Given the description of an element on the screen output the (x, y) to click on. 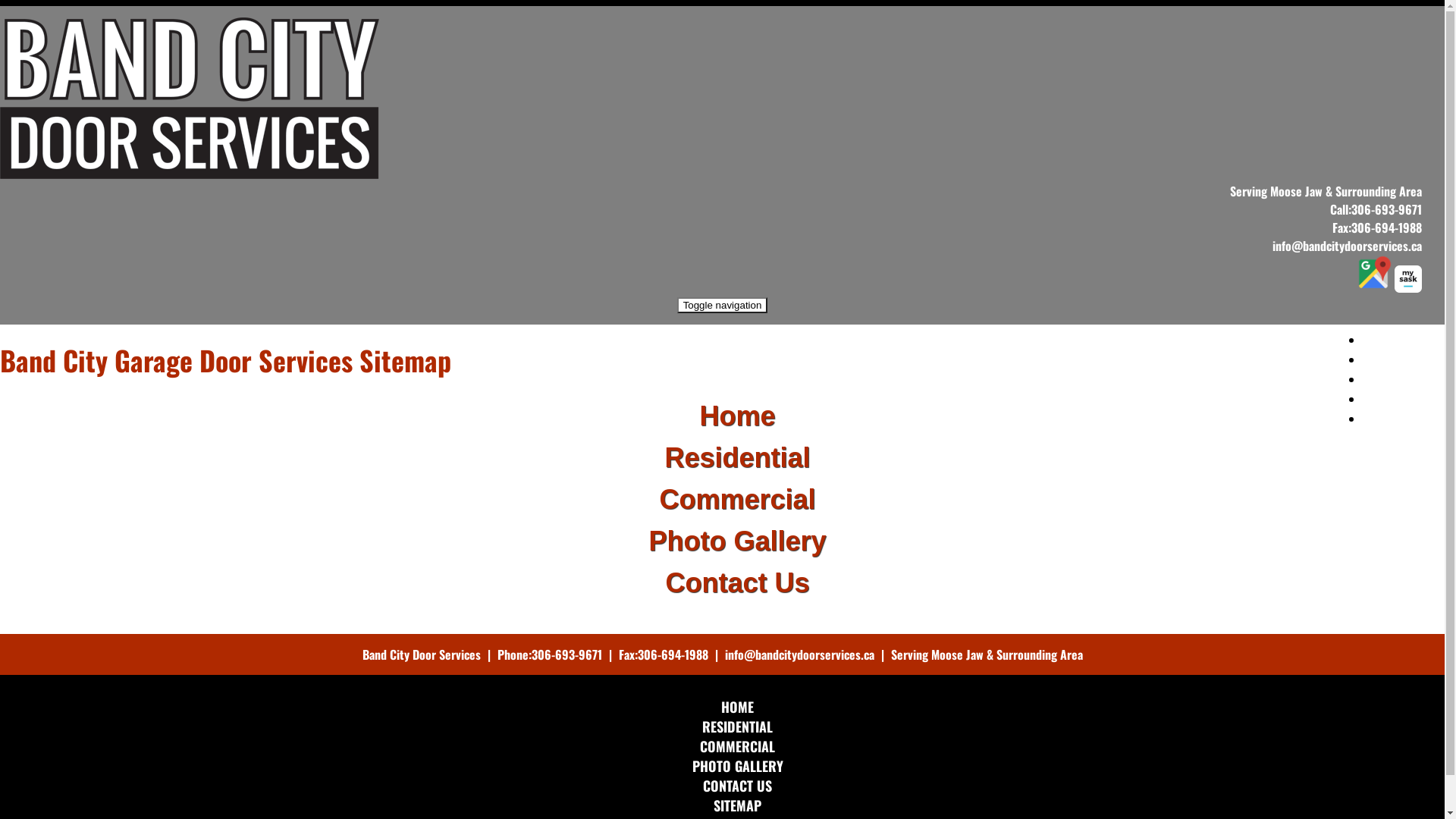
306-693-9671 Element type: text (565, 654)
CONTACT US Element type: text (1403, 416)
HOME Element type: text (737, 706)
PHOTO GALLERY Element type: text (1403, 397)
CONTACT US Element type: text (737, 785)
Photo Gallery Element type: text (736, 540)
Contact Us Element type: text (736, 582)
Commercial Element type: text (736, 499)
info@bandcitydoorservices.ca Element type: text (1346, 245)
COMMERCIAL Element type: text (737, 745)
RESIDENTIAL Element type: text (737, 726)
HOME Element type: text (1403, 338)
Toggle navigation Element type: text (722, 305)
306-693-9671 Element type: text (1386, 209)
PHOTO GALLERY Element type: text (736, 765)
Residential Element type: text (736, 457)
COMMERCIAL Element type: text (1403, 377)
info@bandcitydoorservices.ca Element type: text (799, 654)
RESIDENTIAL Element type: text (1403, 357)
Home Element type: text (736, 415)
